Given the description of an element on the screen output the (x, y) to click on. 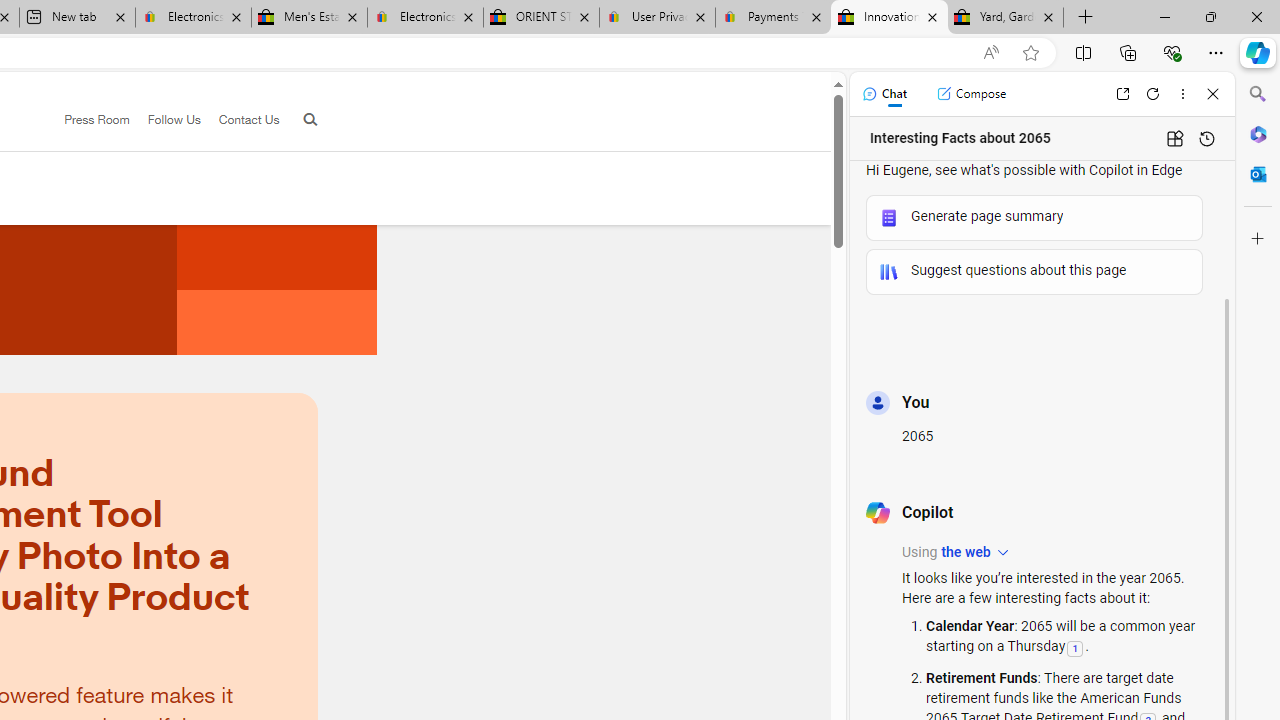
Yard, Garden & Outdoor Living (1005, 17)
Chat (884, 93)
Payments Terms of Use | eBay.com (772, 17)
Compose (971, 93)
Follow Us (173, 119)
User Privacy Notice | eBay (657, 17)
Contact Us (239, 120)
